Given the description of an element on the screen output the (x, y) to click on. 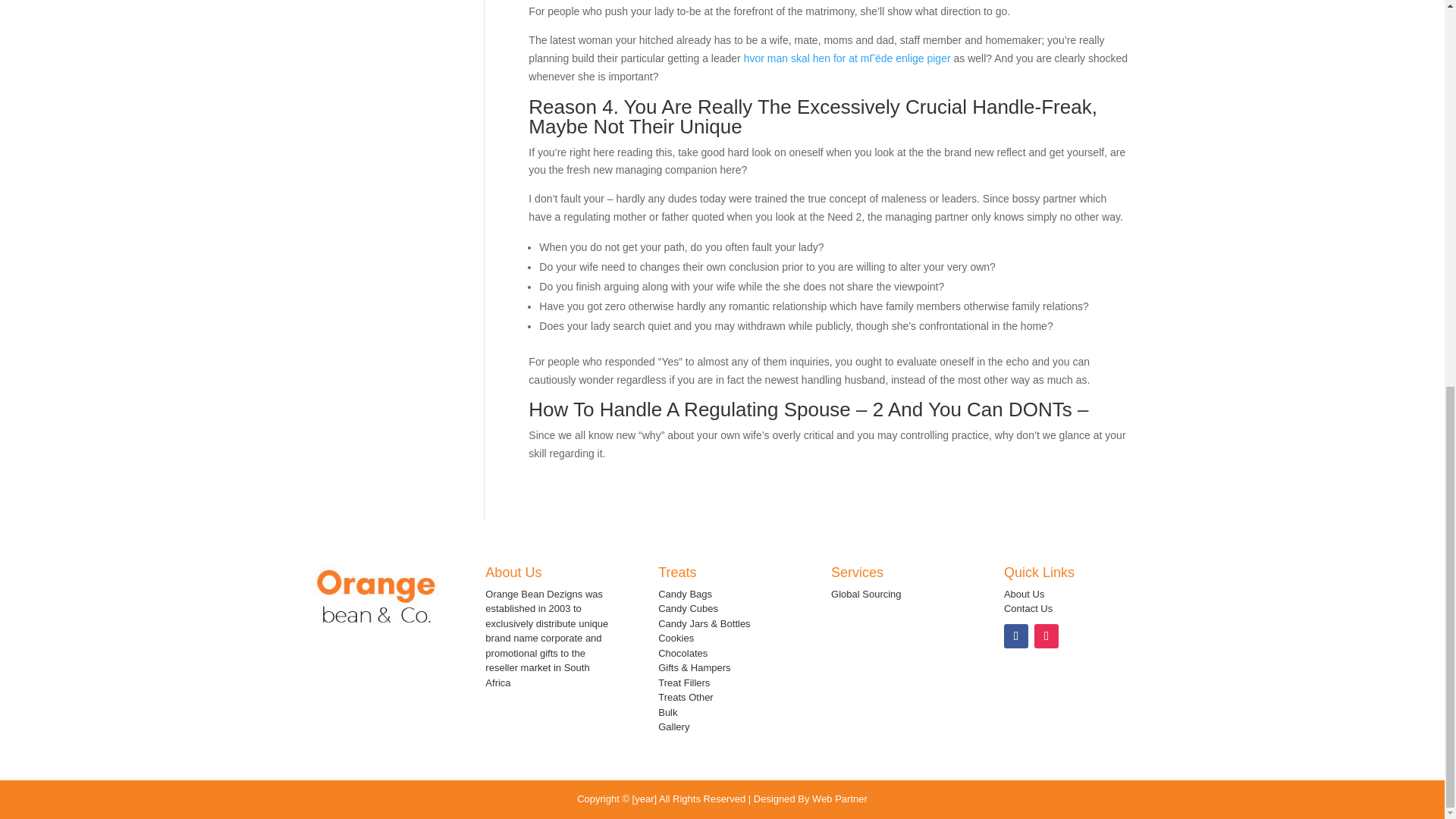
Follow on Instagram (1045, 636)
orangebeanco-logo (376, 596)
Follow on Facebook (1015, 636)
